Given the description of an element on the screen output the (x, y) to click on. 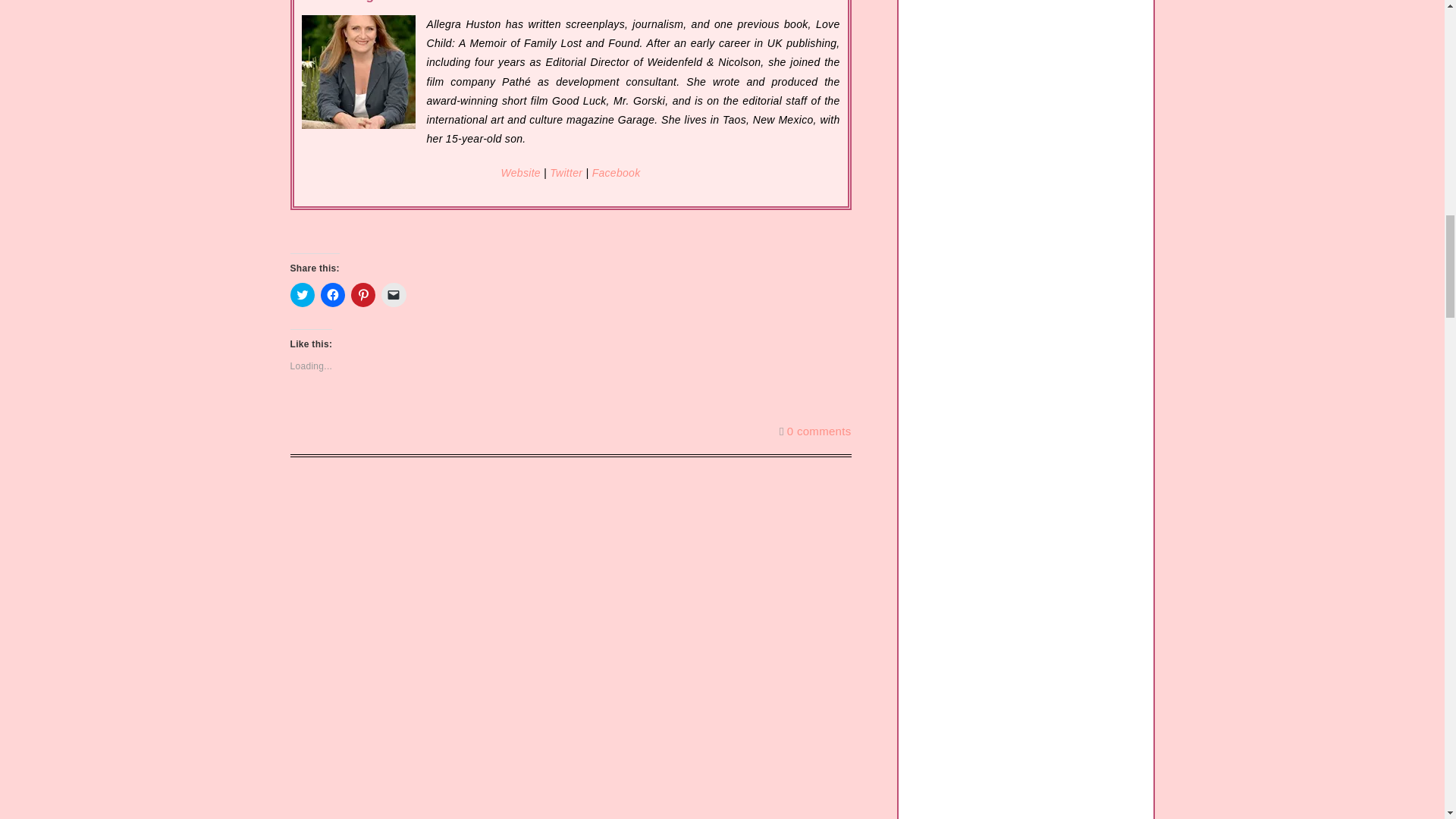
Click to share on Facebook (332, 294)
Click to email a link to a friend (393, 294)
Click to share on Pinterest (362, 294)
Click to share on Twitter (301, 294)
